Given the description of an element on the screen output the (x, y) to click on. 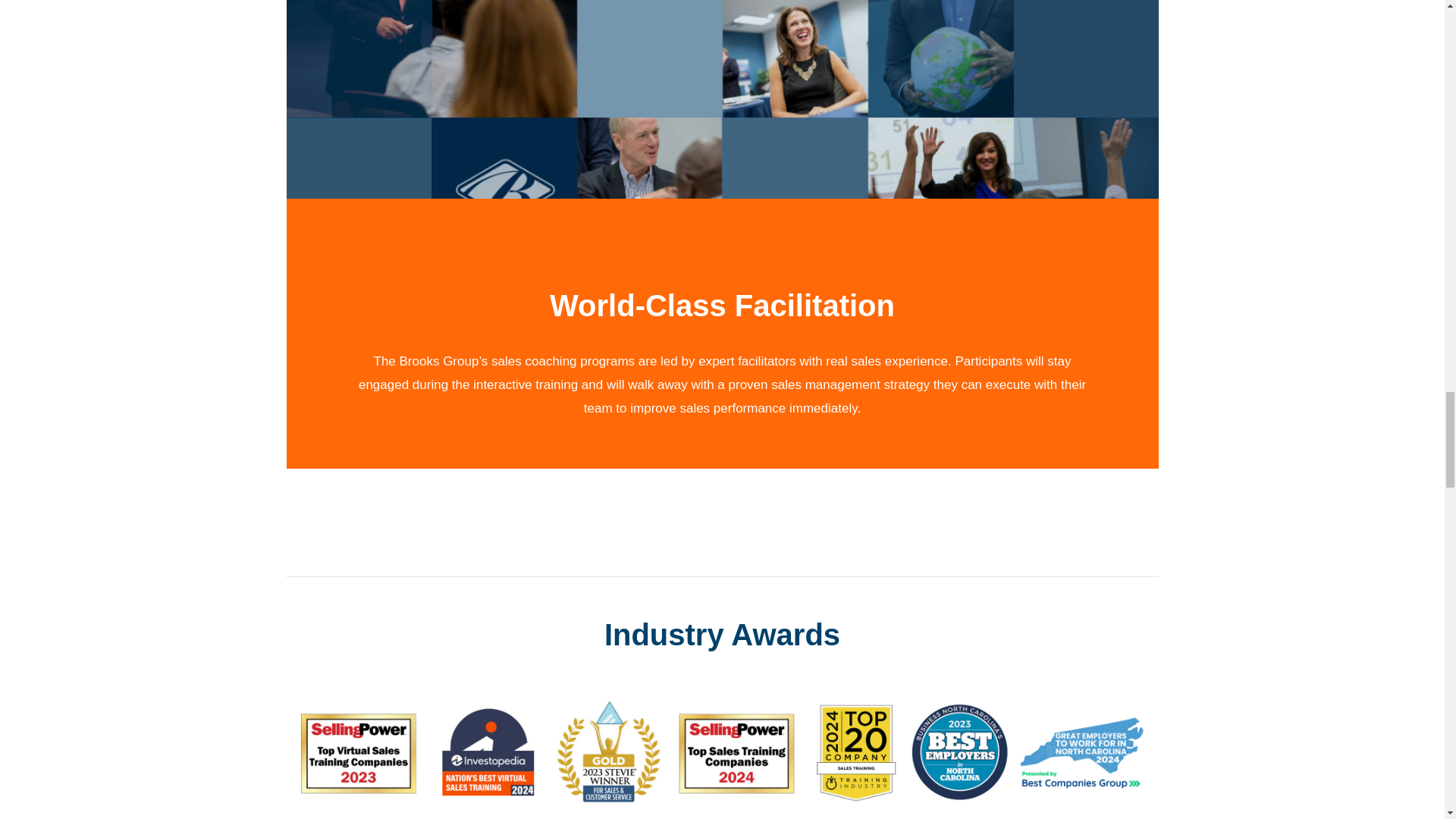
Award-Winning Sales Training Company (722, 750)
